Given the description of an element on the screen output the (x, y) to click on. 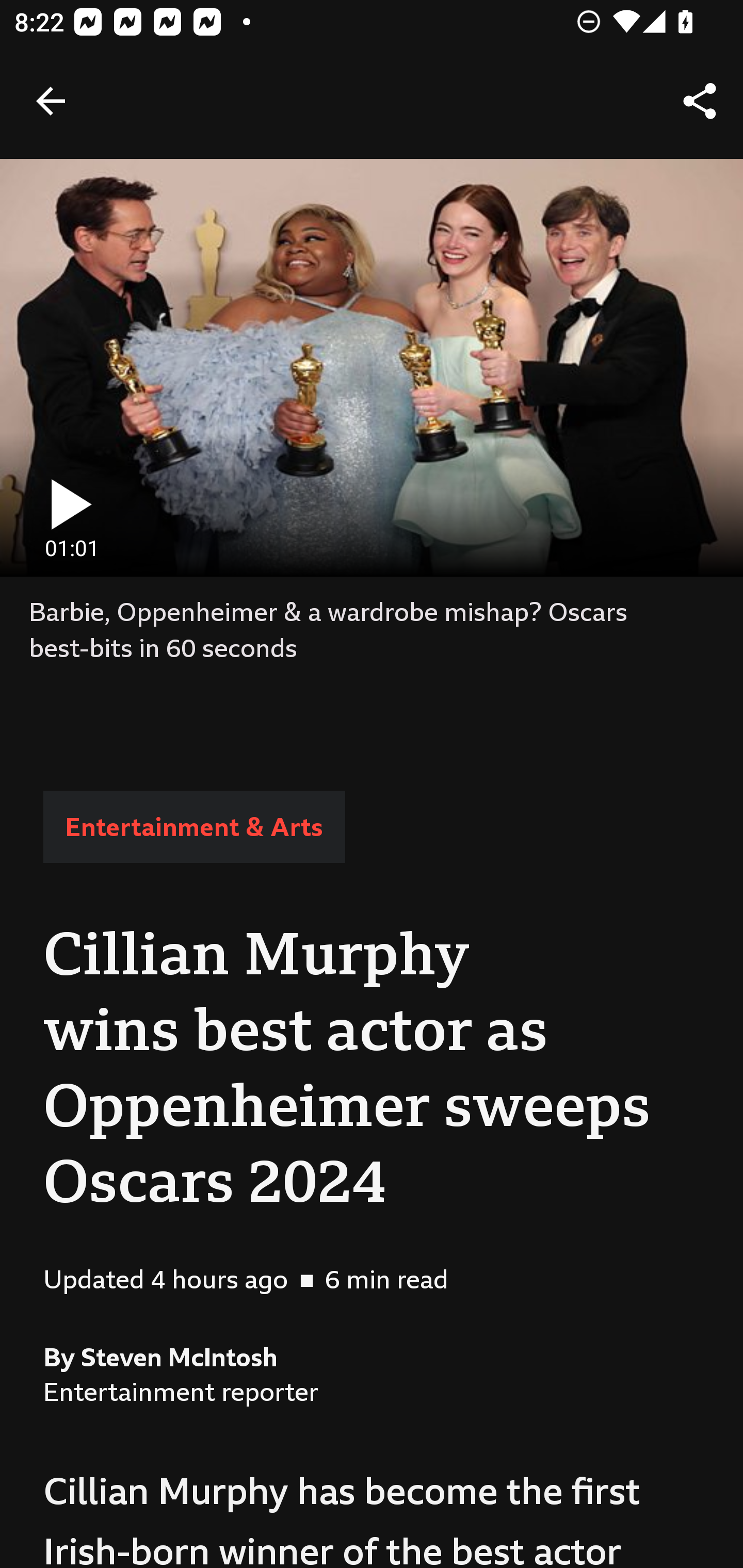
Back (50, 101)
Share (699, 101)
play fullscreen 01:01 1 minute, 1 second (371, 367)
Entertainment & Arts (194, 827)
